Given the description of an element on the screen output the (x, y) to click on. 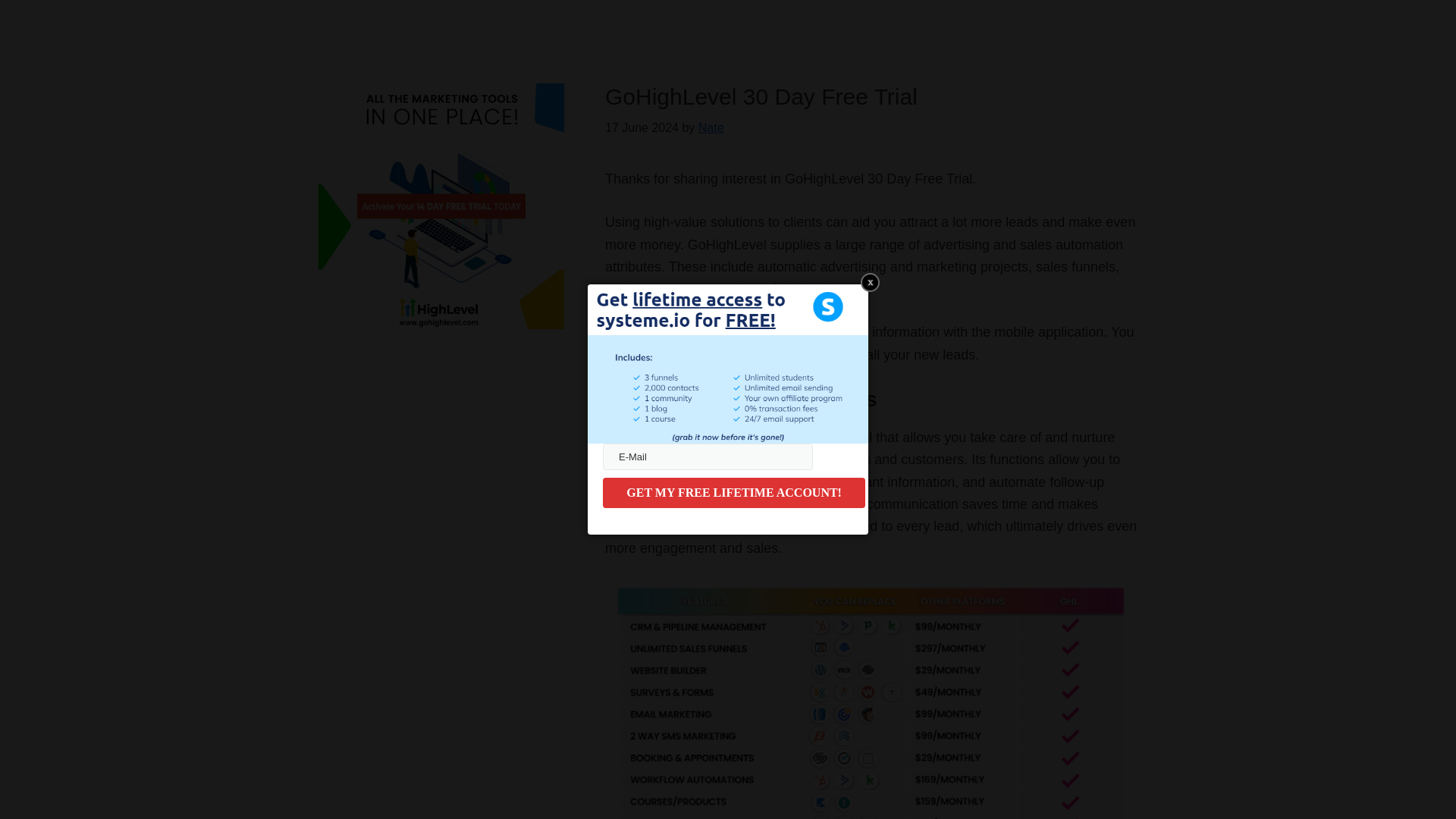
Nate (710, 127)
GET MY FREE LIFETIME ACCOUNT! (733, 492)
GET MY FREE LIFETIME ACCOUNT! (733, 492)
